Given the description of an element on the screen output the (x, y) to click on. 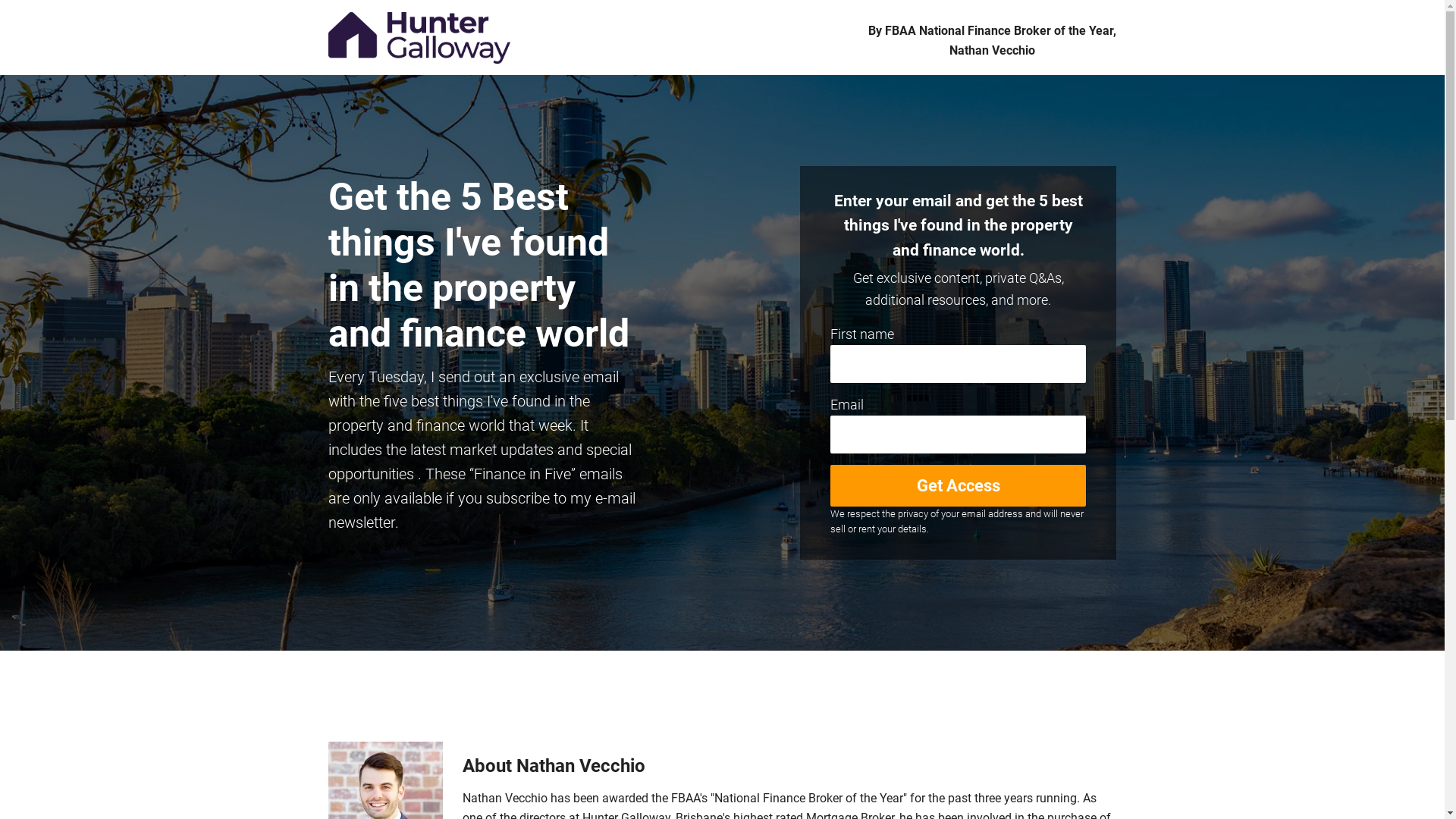
Hunter-galloway Element type: hover (418, 37)
Get Access Element type: text (958, 485)
